Given the description of an element on the screen output the (x, y) to click on. 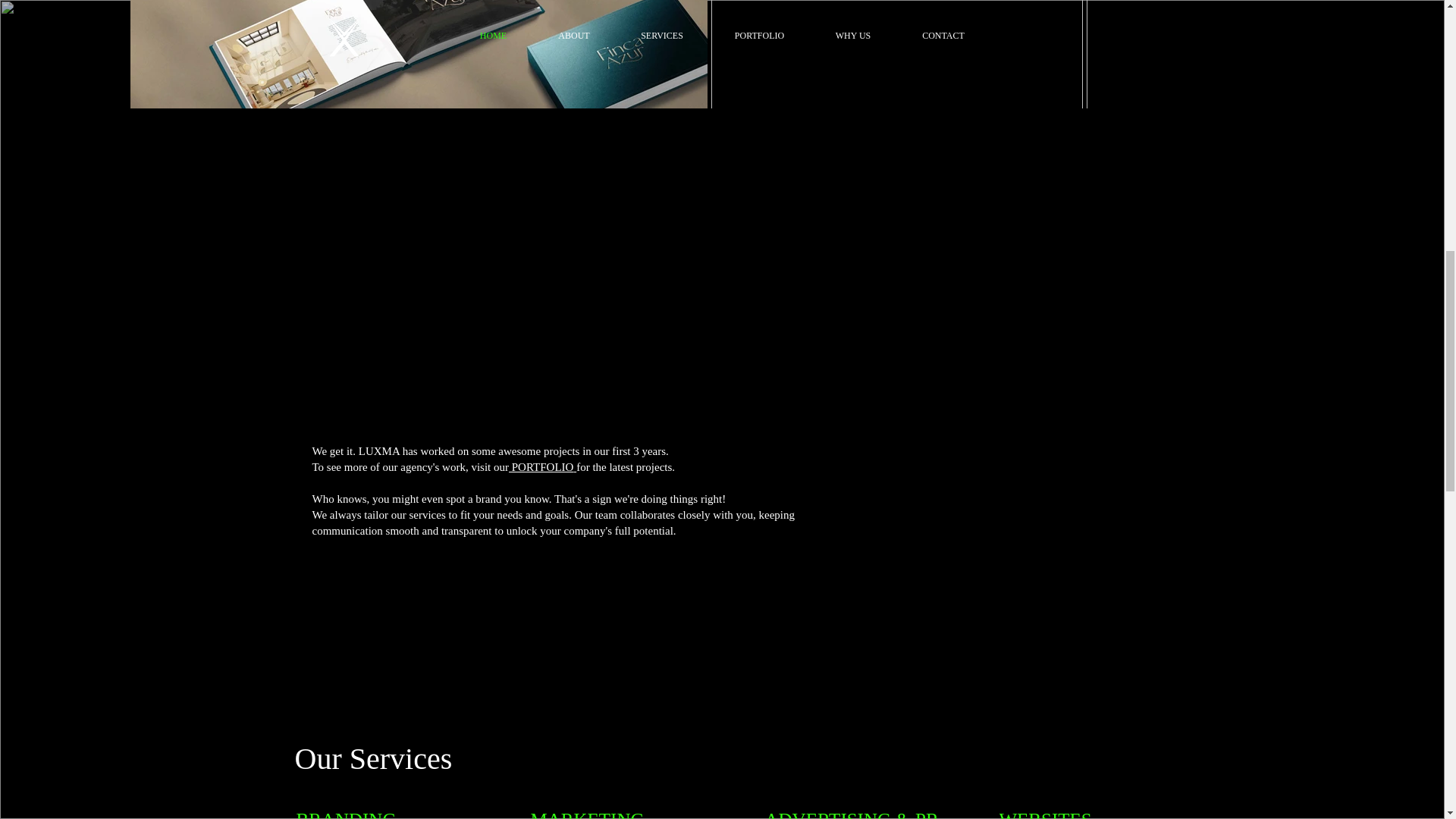
MARKETING (588, 814)
 PORTFOLIO  (542, 467)
WEBSITES (535, 278)
